Given the description of an element on the screen output the (x, y) to click on. 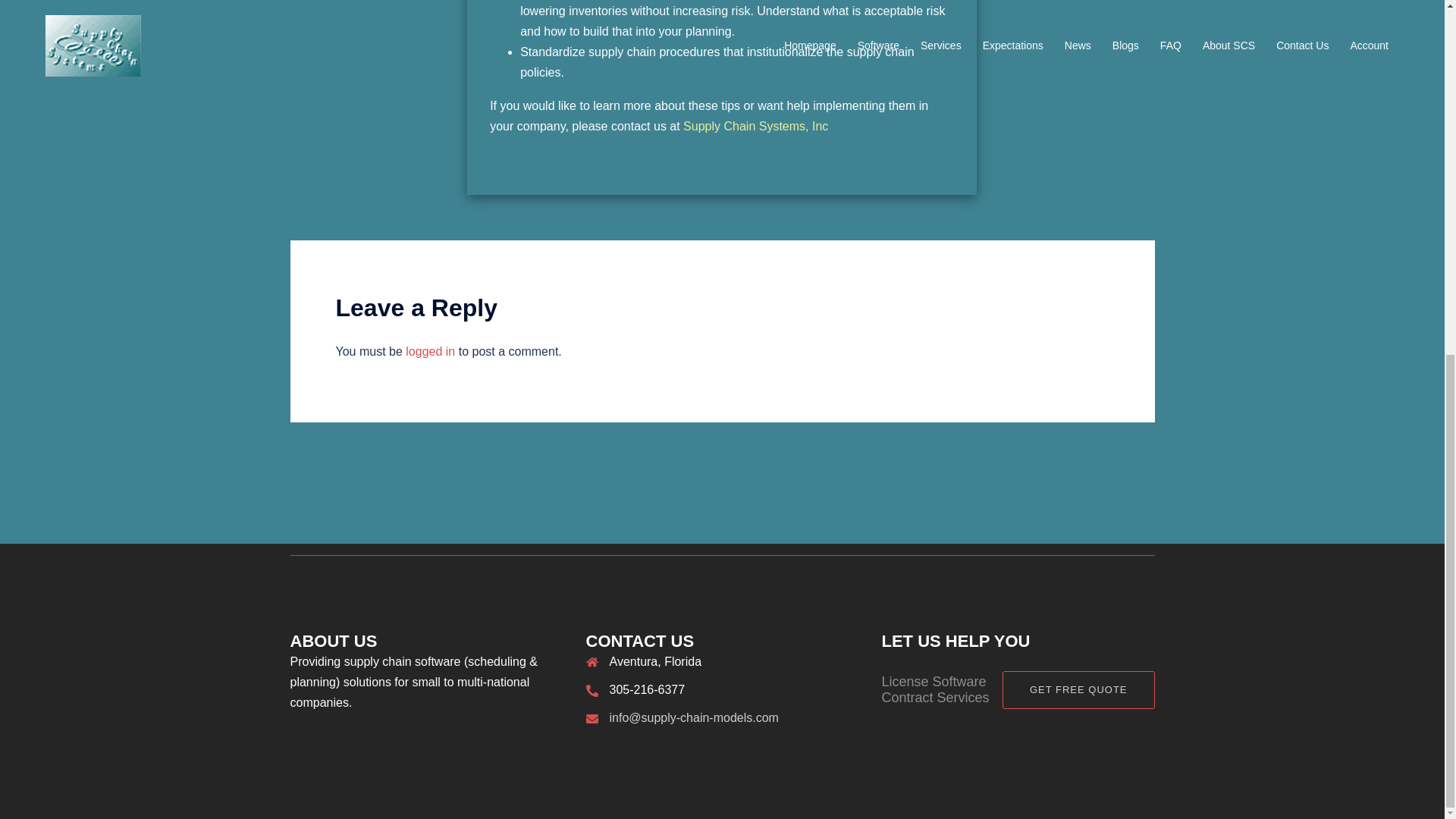
logged in (430, 350)
GET FREE QUOTE (1078, 689)
Supply Chain Systems, Inc (755, 125)
